Given the description of an element on the screen output the (x, y) to click on. 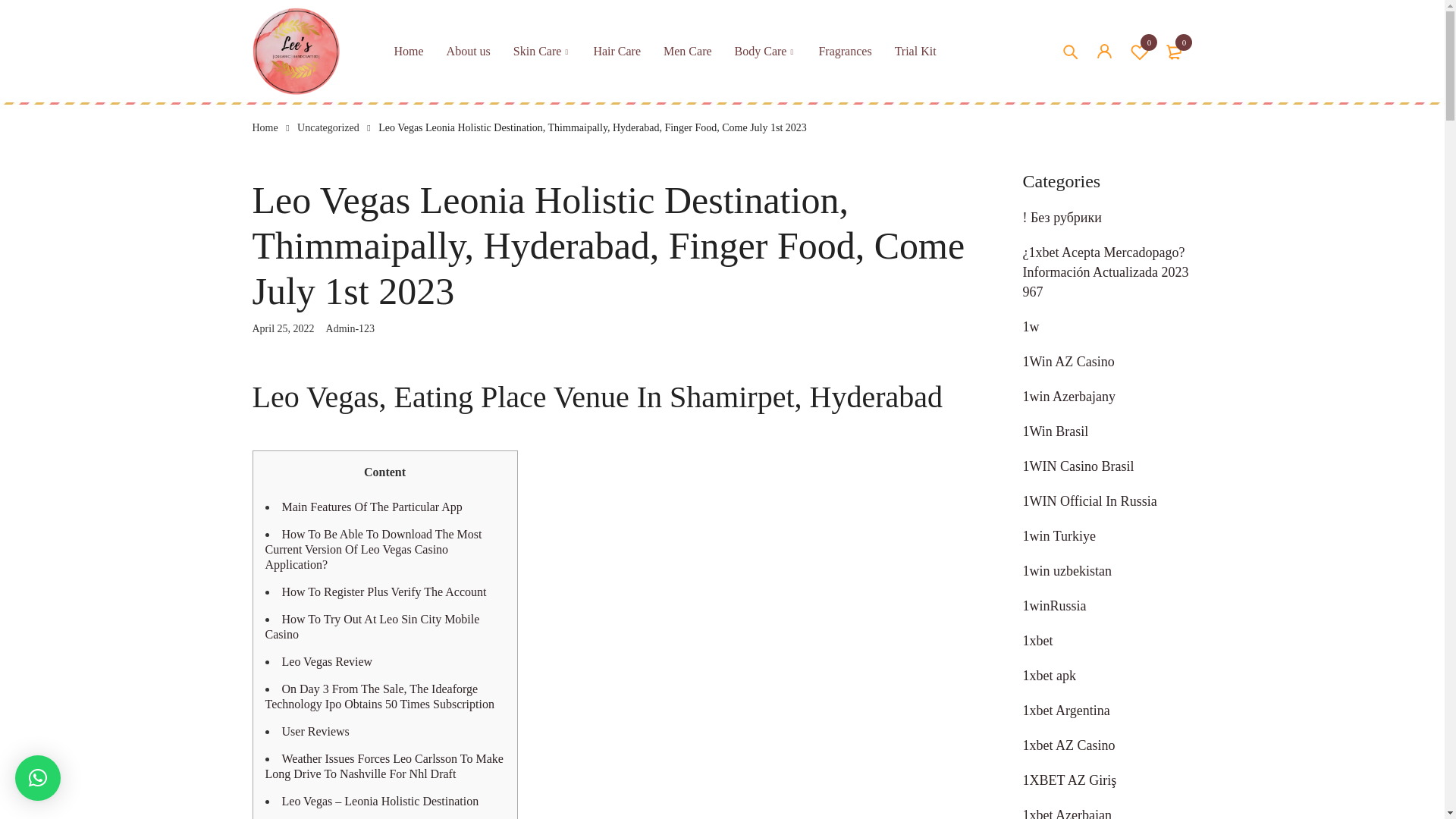
MyMedi (295, 51)
Skin Care (537, 51)
0 (1139, 50)
Home (1174, 50)
About us (408, 51)
Posts by Admin-123 (468, 51)
Wishlist (350, 328)
View your shopping cart (1139, 50)
